Given the description of an element on the screen output the (x, y) to click on. 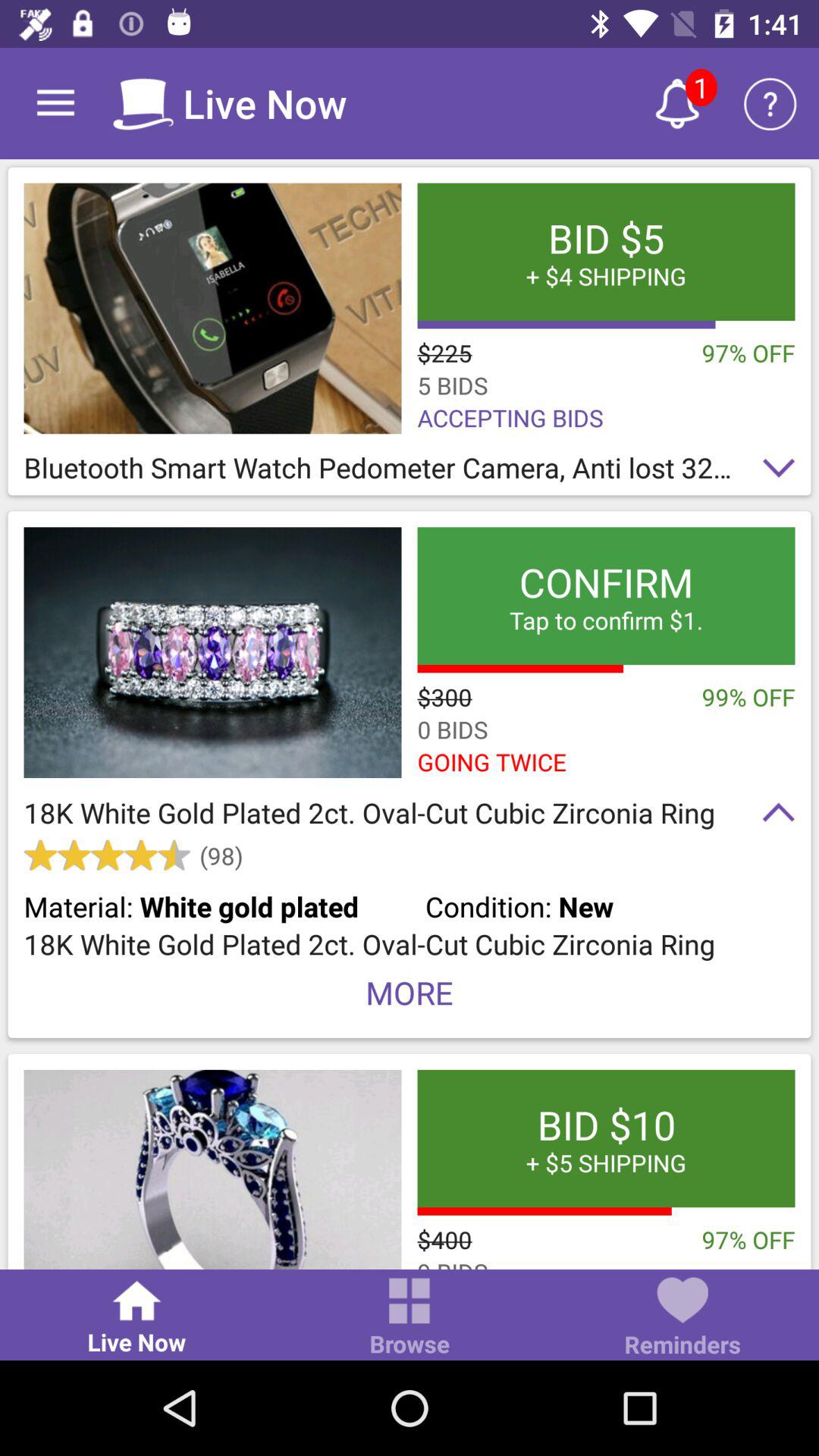
select item (212, 652)
